Given the description of an element on the screen output the (x, y) to click on. 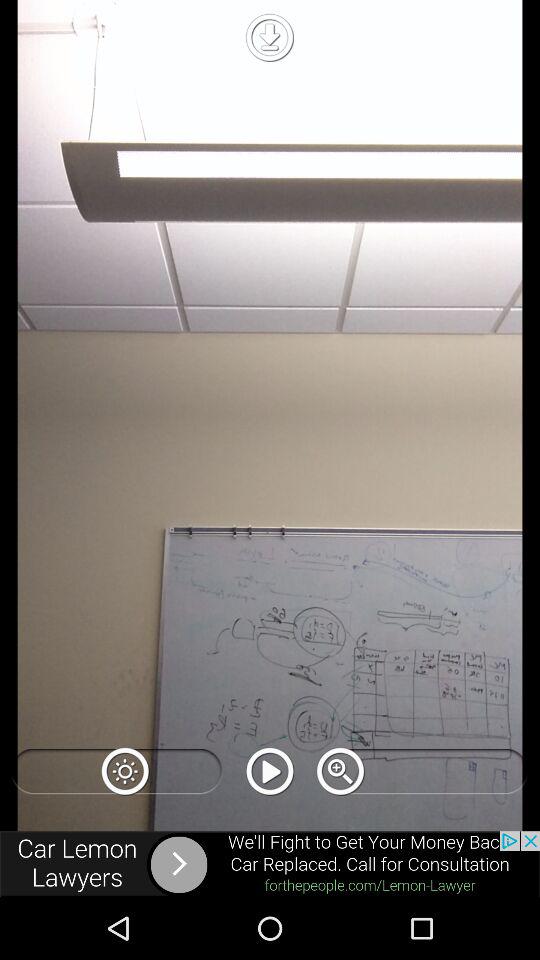
open webpage of displayed advertisement (270, 864)
